Given the description of an element on the screen output the (x, y) to click on. 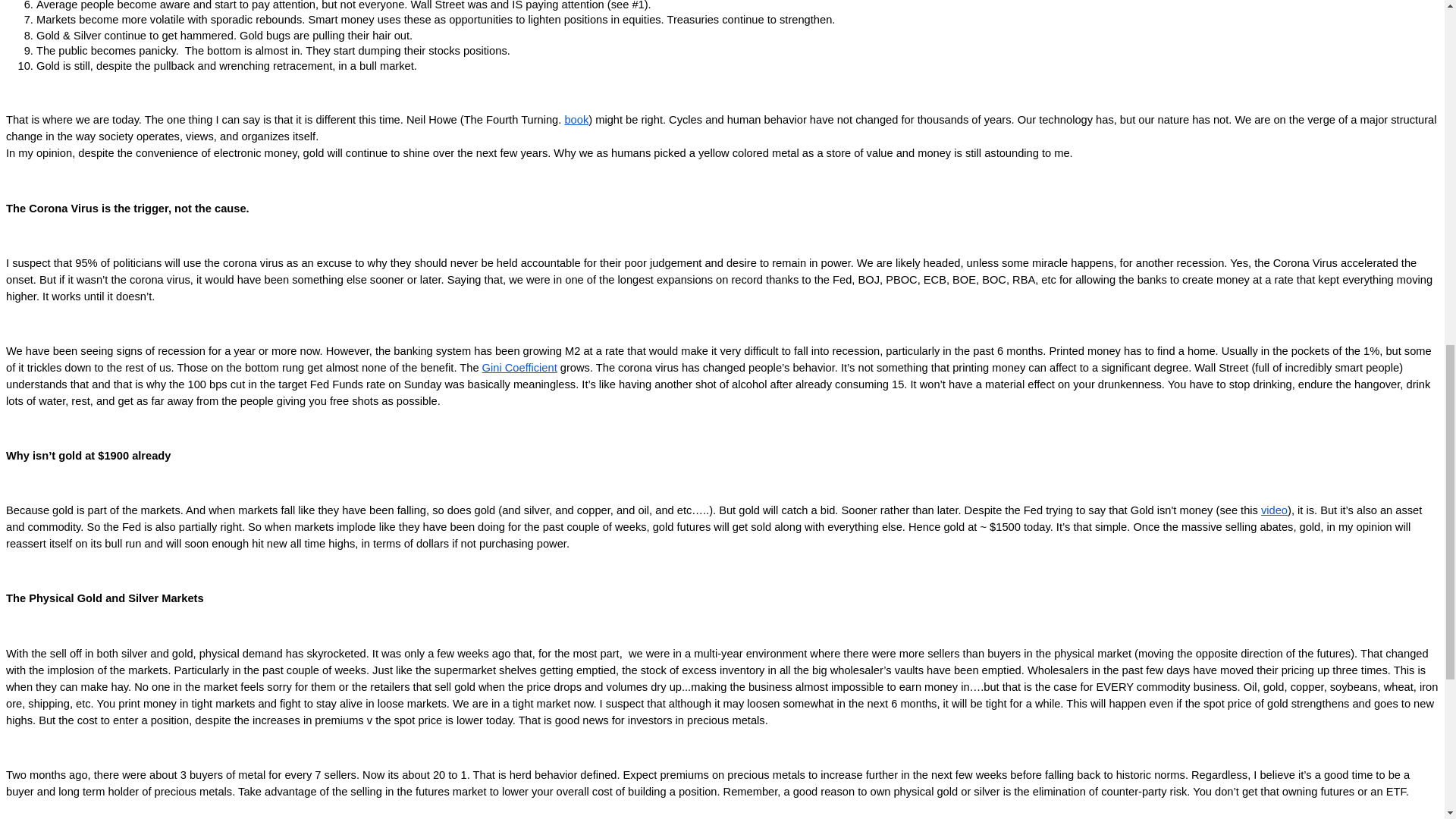
Gini Coefficient (519, 367)
video (1273, 509)
book (576, 119)
